Given the description of an element on the screen output the (x, y) to click on. 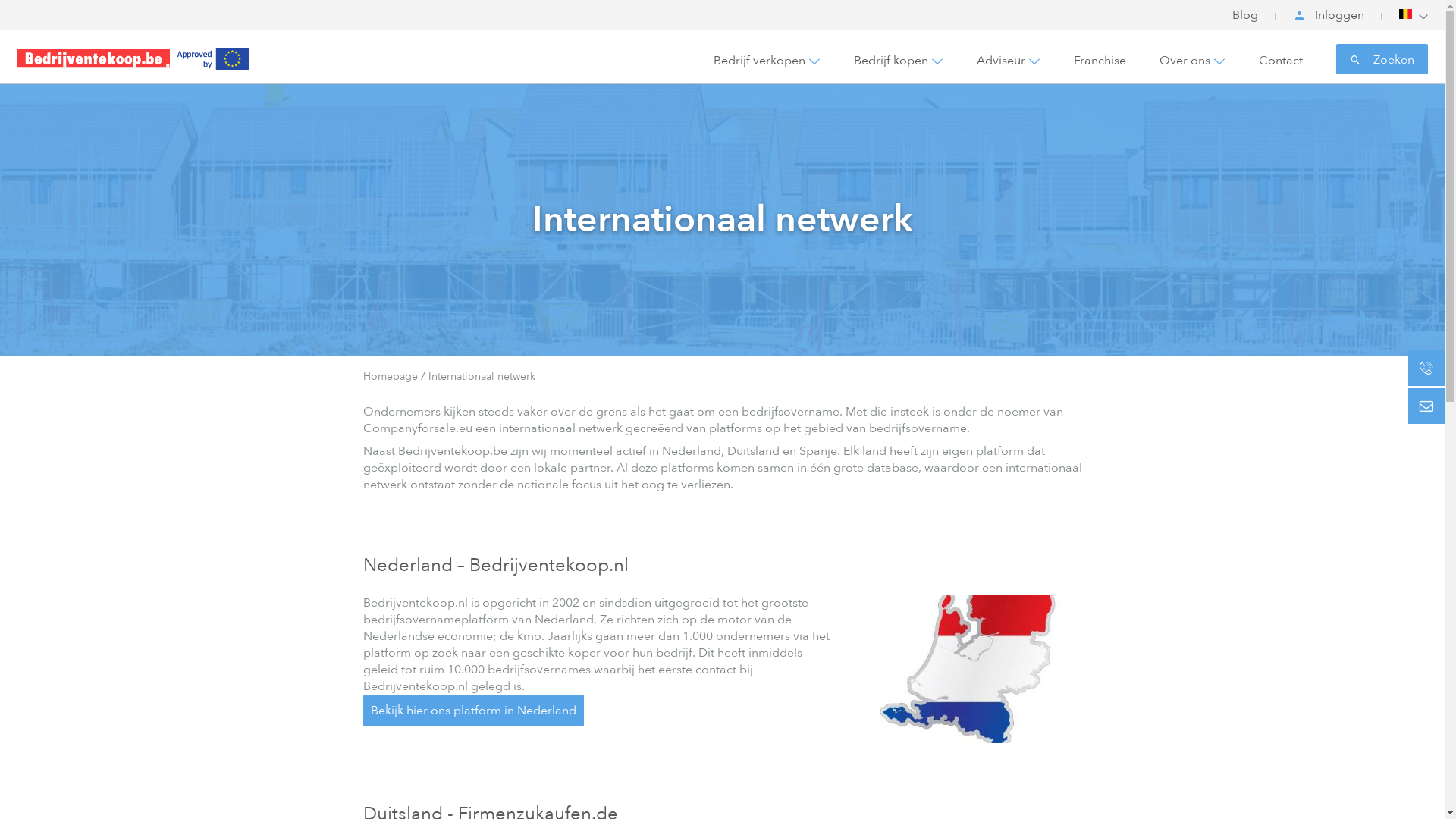
Inloggen Element type: text (1328, 18)
Contact Element type: text (1280, 60)
Bekijk hier ons platform in Nederland Element type: text (472, 710)
Homepage Element type: text (391, 376)
Bedrijf verkopen Element type: text (759, 60)
Adviseur Element type: text (1000, 60)
Bedrijf kopen Element type: text (890, 60)
Over ons Element type: text (1184, 60)
Blog Element type: text (1245, 18)
Zoeken Element type: text (1381, 58)
Franchise Element type: text (1099, 60)
Internationaal netwerk Element type: text (480, 376)
